Given the description of an element on the screen output the (x, y) to click on. 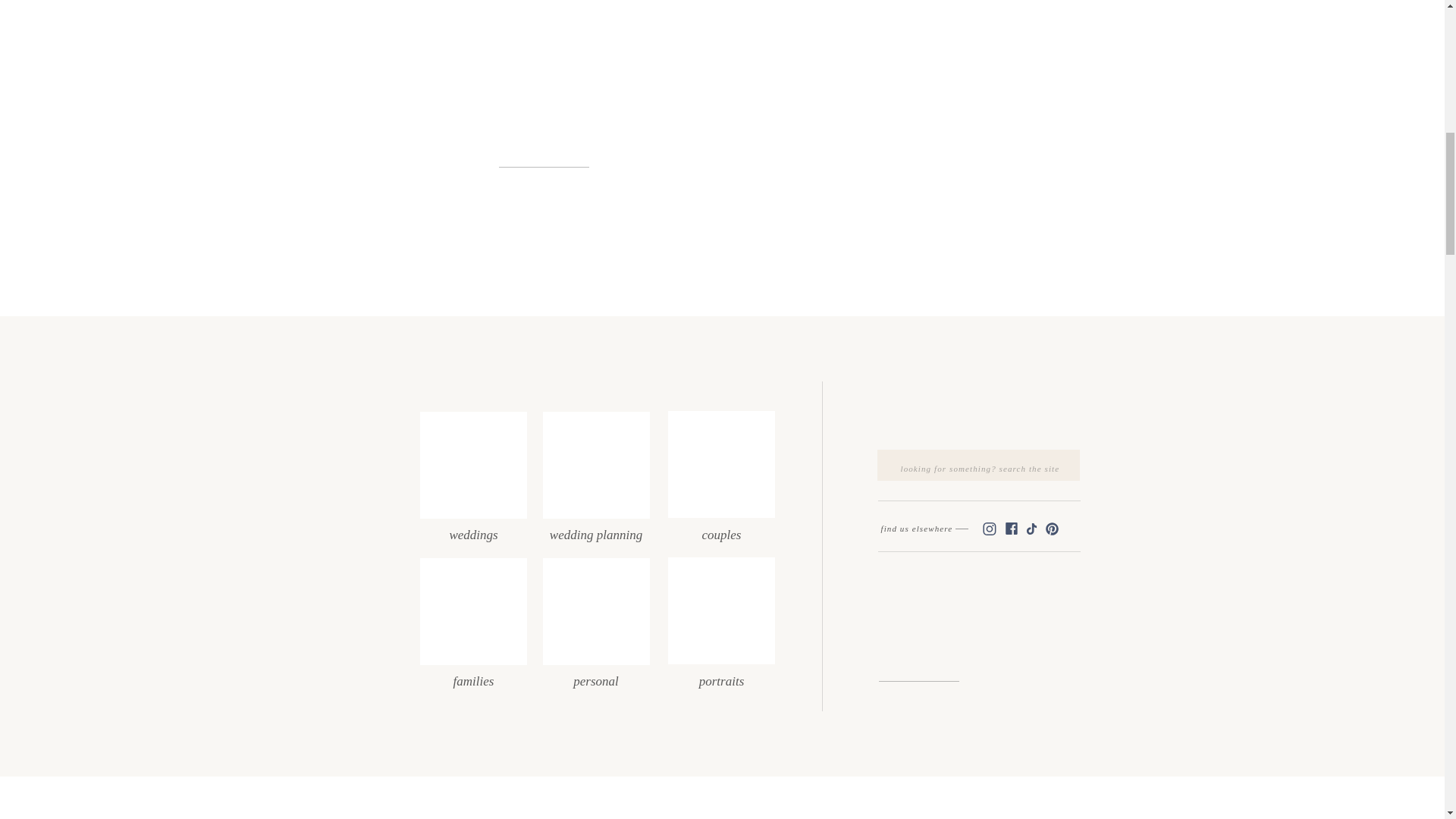
portraits (720, 675)
weddings (473, 529)
Facebook Copy-color Created with Sketch. (1010, 528)
wedding planning (595, 529)
Facebook Copy-color Created with Sketch. (1010, 528)
Instagram-color Created with Sketch. (988, 528)
couples (720, 529)
families (473, 675)
Instagram-color Created with Sketch. (988, 528)
personal (595, 675)
